Given the description of an element on the screen output the (x, y) to click on. 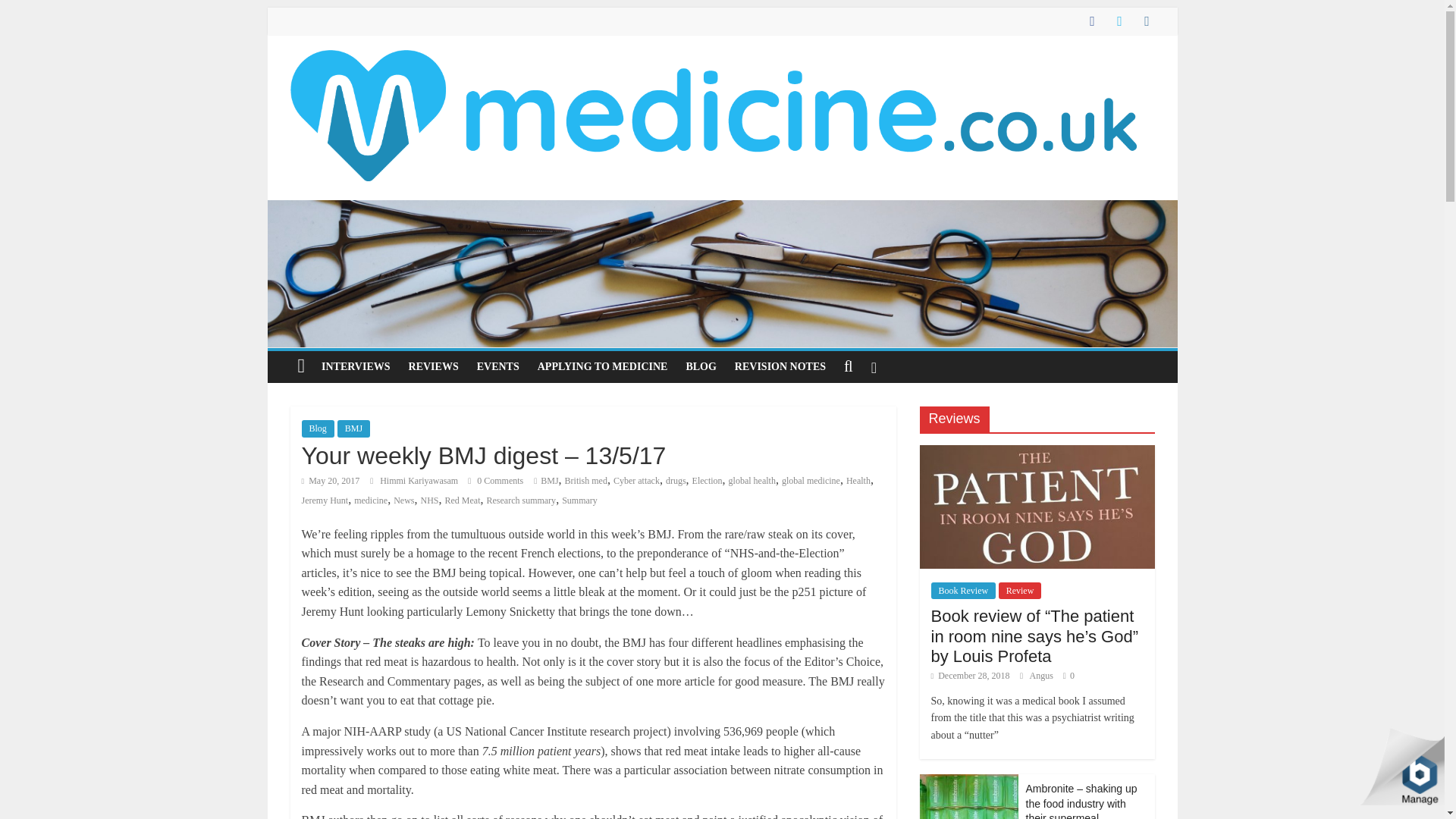
Research summary (521, 500)
REVIEWS (432, 367)
APPLYING TO MEDICINE (602, 367)
Summary (579, 500)
Cyber attack (635, 480)
global health (752, 480)
9:14 am (330, 480)
medicine (370, 500)
BLOG (701, 367)
Himmi Kariyawasam (420, 480)
Health (857, 480)
NHS (429, 500)
BMJ (548, 480)
Jeremy Hunt (325, 500)
